Given the description of an element on the screen output the (x, y) to click on. 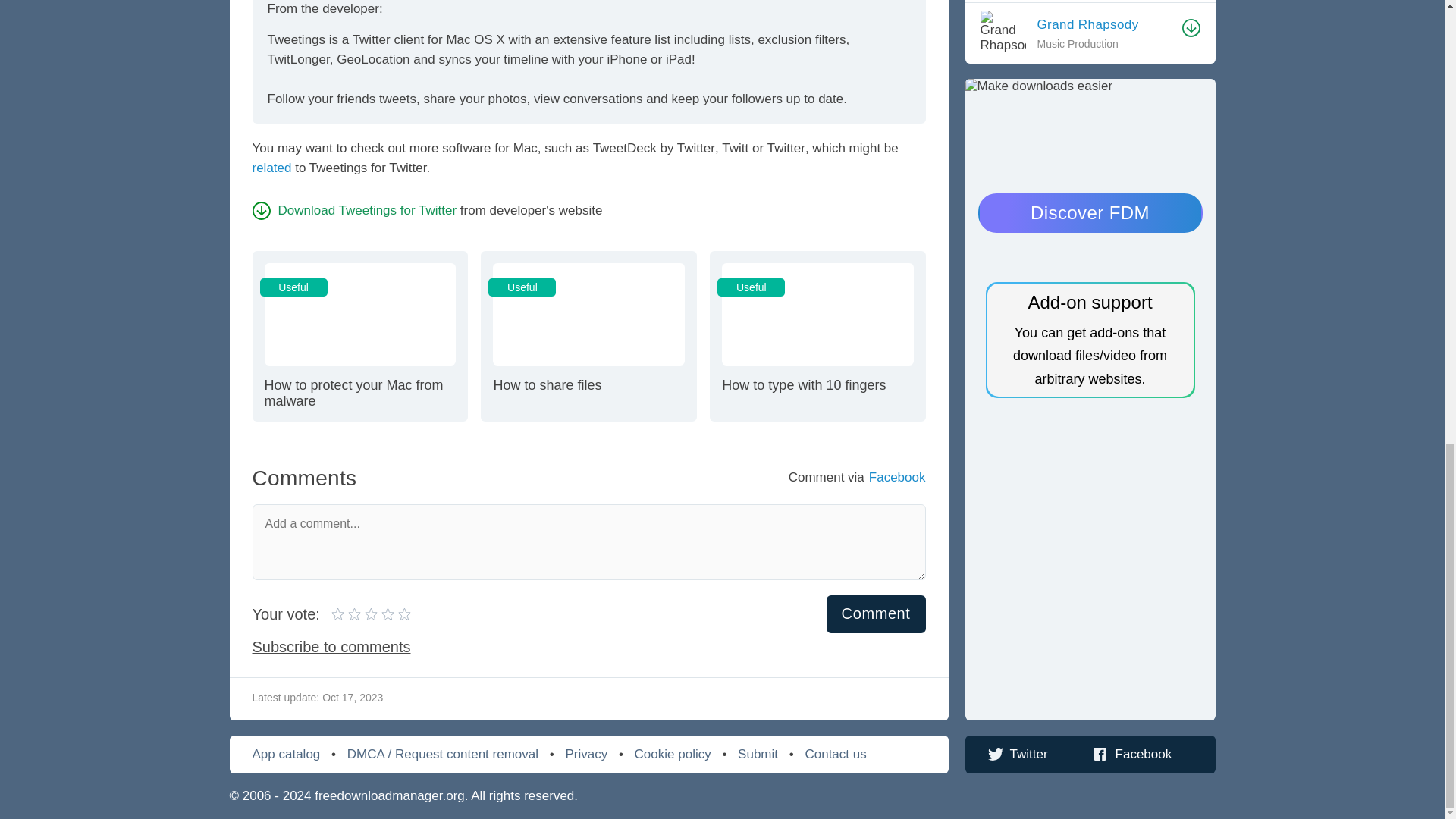
2 (346, 613)
1 (338, 613)
3 (355, 613)
Comment (359, 335)
related (587, 335)
5 (876, 613)
4 (271, 167)
Download Tweetings for Twitter (370, 613)
Comment (363, 613)
